Given the description of an element on the screen output the (x, y) to click on. 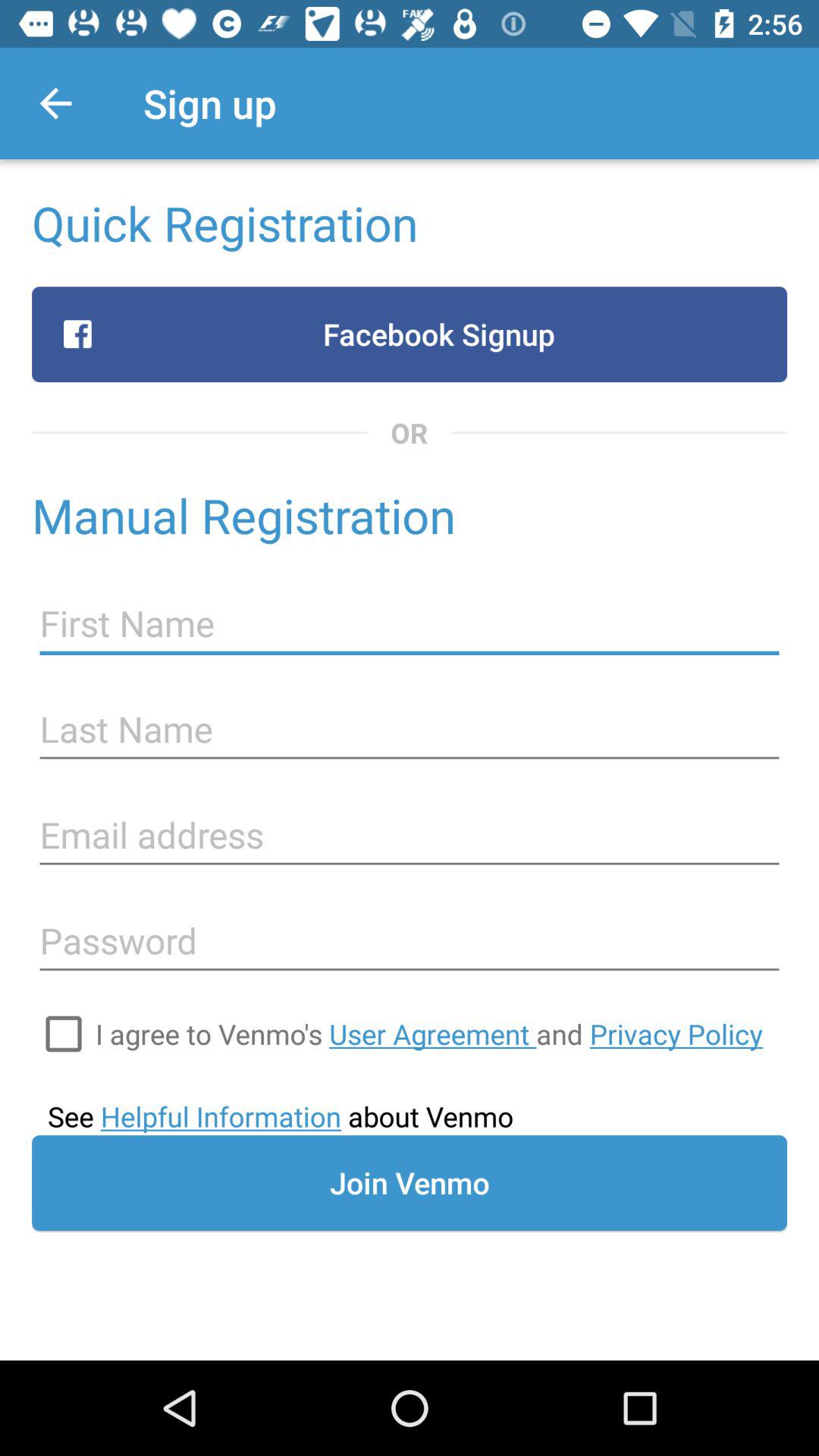
enter first name (409, 623)
